Given the description of an element on the screen output the (x, y) to click on. 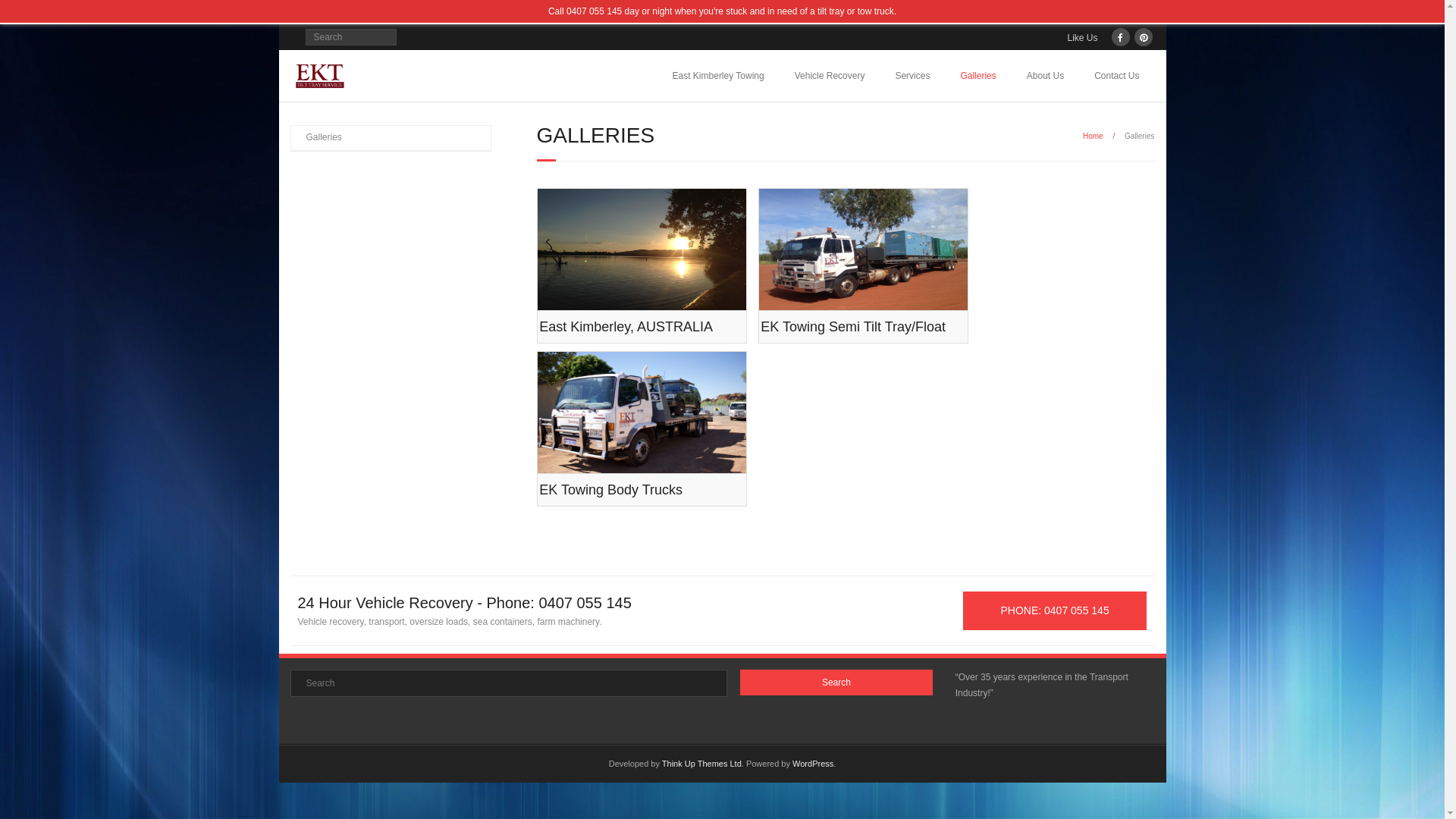
Search Element type: text (836, 682)
Vehicle Recovery Element type: text (829, 75)
Home Element type: text (1092, 135)
Contact Us Element type: text (1116, 75)
Galleries Element type: text (977, 75)
Services Element type: text (911, 75)
Think Up Themes Ltd Element type: text (701, 763)
Search Element type: text (25, 13)
WordPress Element type: text (812, 763)
East Kimberley Towing Element type: text (718, 75)
Galleries Element type: text (316, 137)
About Us Element type: text (1045, 75)
PHONE: 0407 055 145 Element type: text (1054, 610)
